Given the description of an element on the screen output the (x, y) to click on. 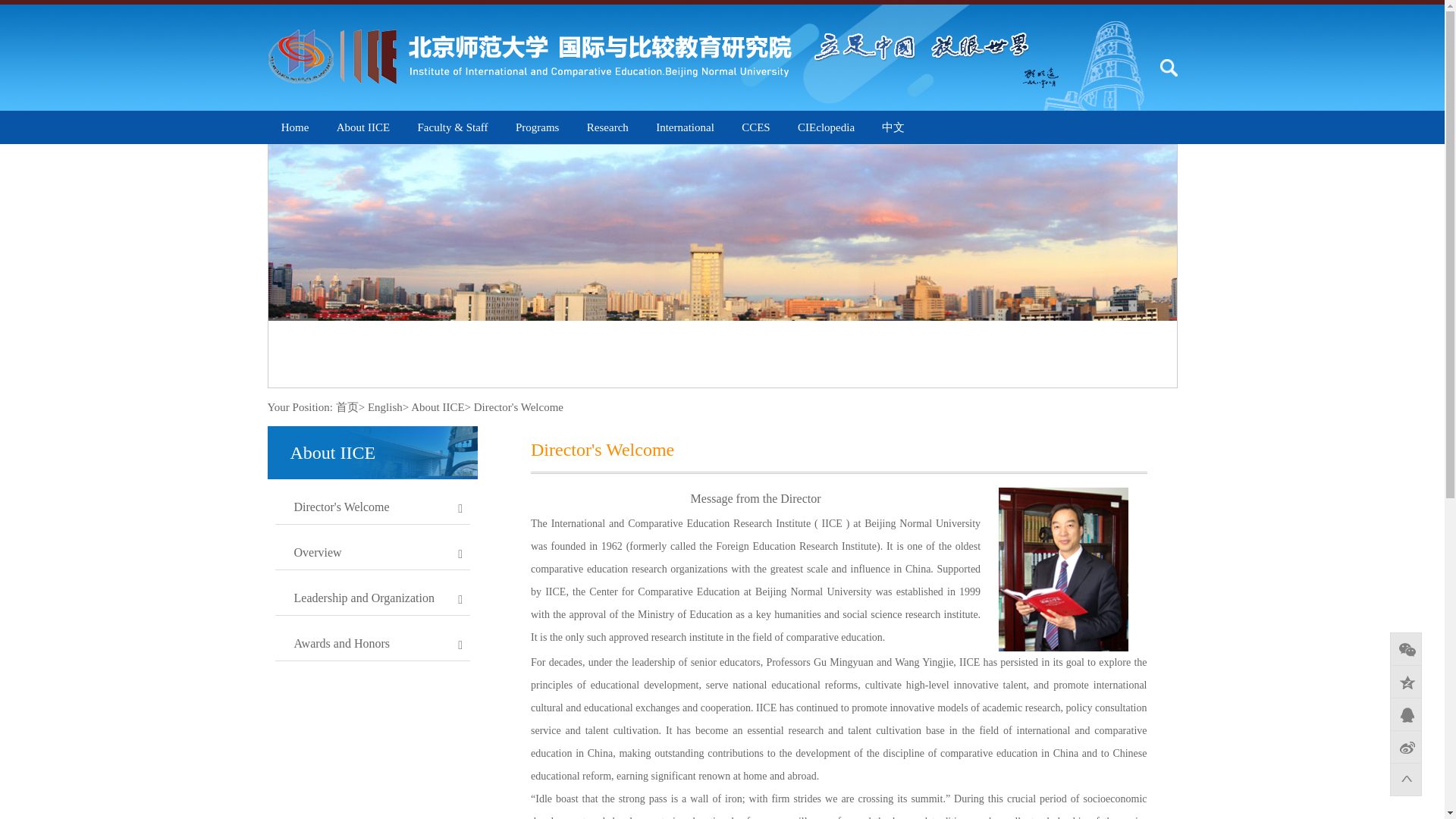
About IICE (363, 127)
Programs (537, 127)
CCES (755, 127)
International (685, 127)
Research (607, 127)
